Given the description of an element on the screen output the (x, y) to click on. 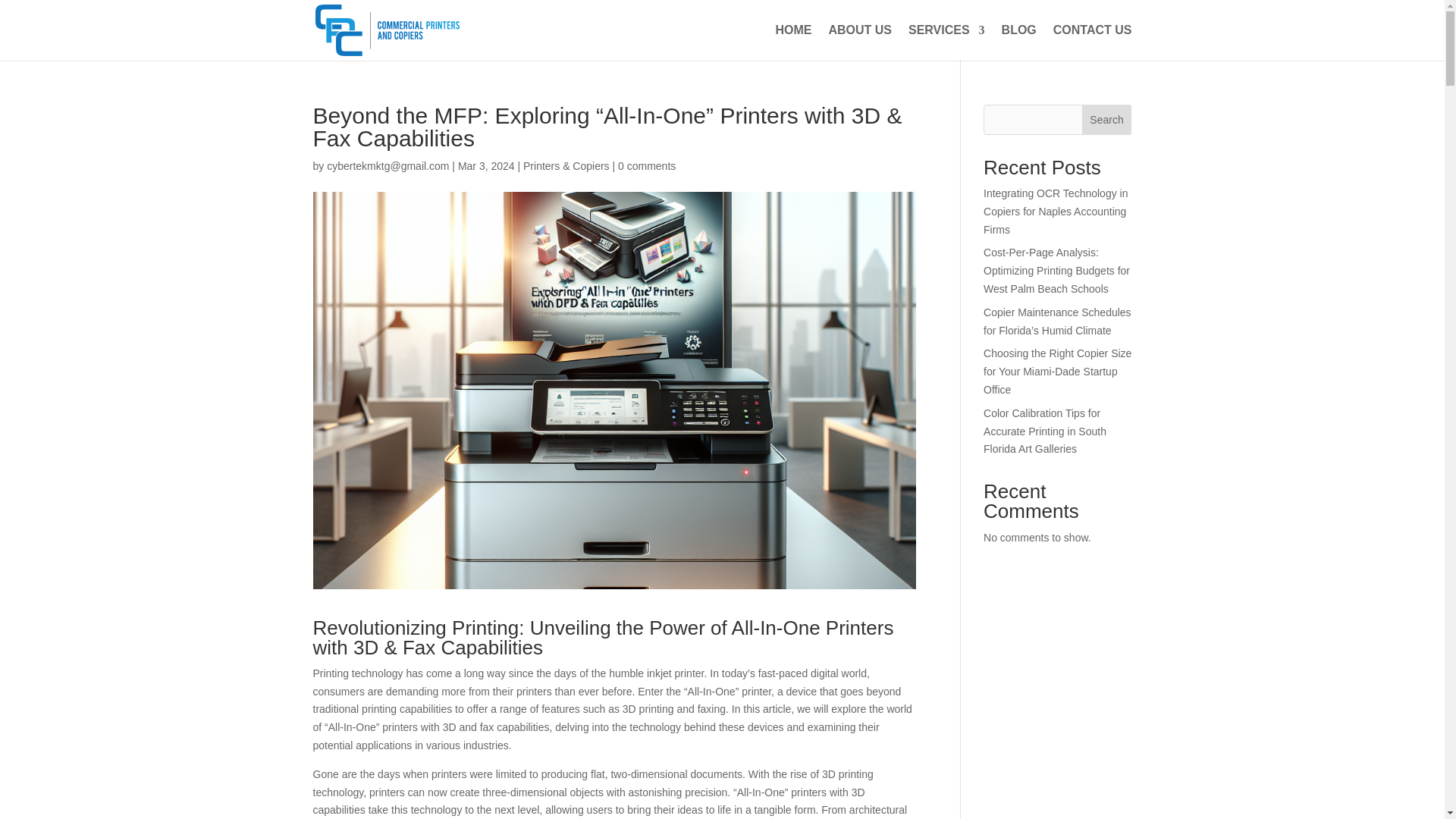
CONTACT US (1092, 42)
Search (1106, 119)
0 comments (646, 165)
BLOG (1018, 42)
SERVICES (946, 42)
ABOUT US (859, 42)
HOME (792, 42)
